Given the description of an element on the screen output the (x, y) to click on. 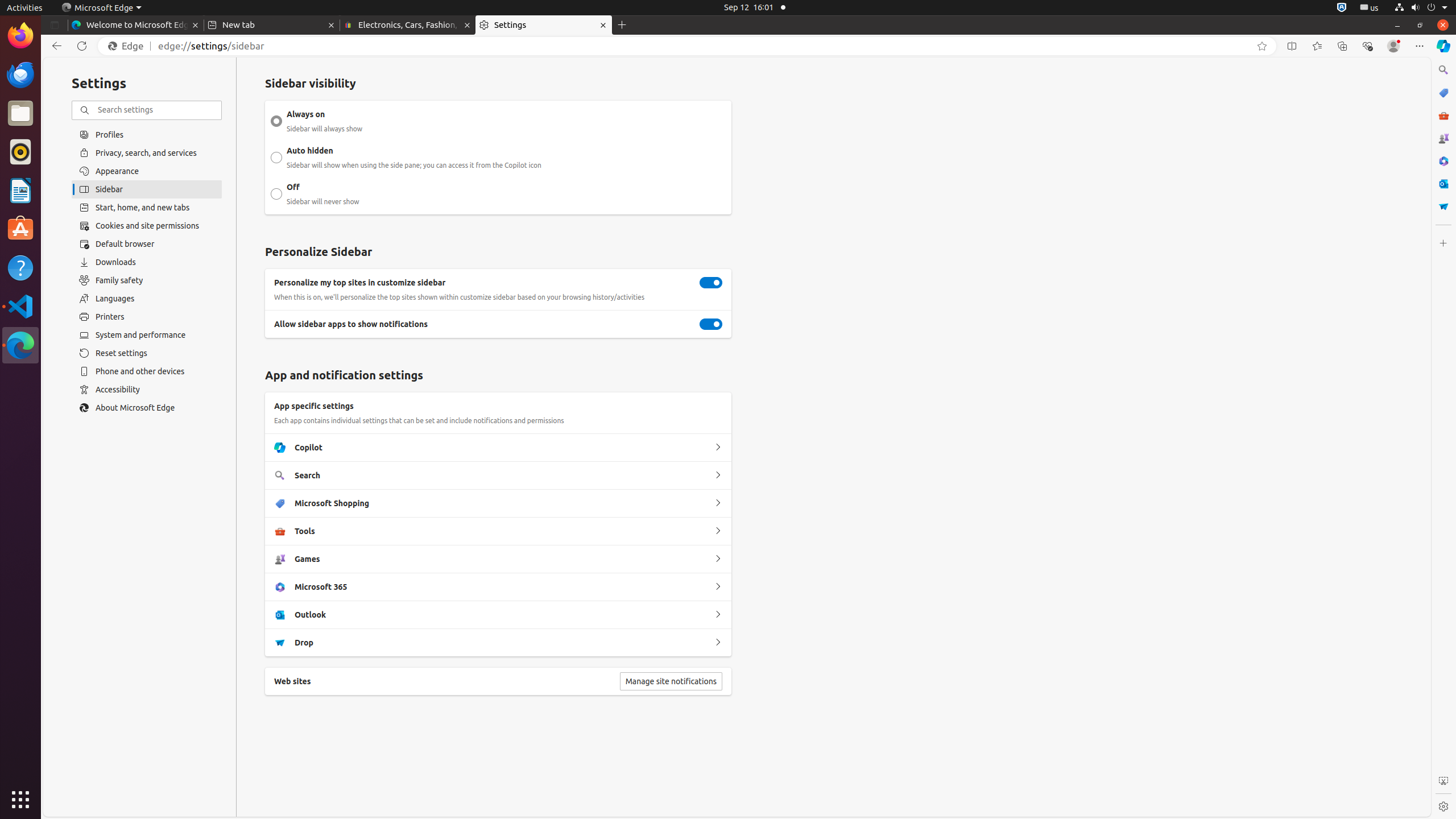
:1.72/StatusNotifierItem Element type: menu (1341, 7)
Customize Element type: push-button (1443, 243)
Tab actions menu Element type: push-button (54, 24)
Refresh Element type: push-button (81, 45)
System Element type: menu (1420, 7)
